Given the description of an element on the screen output the (x, y) to click on. 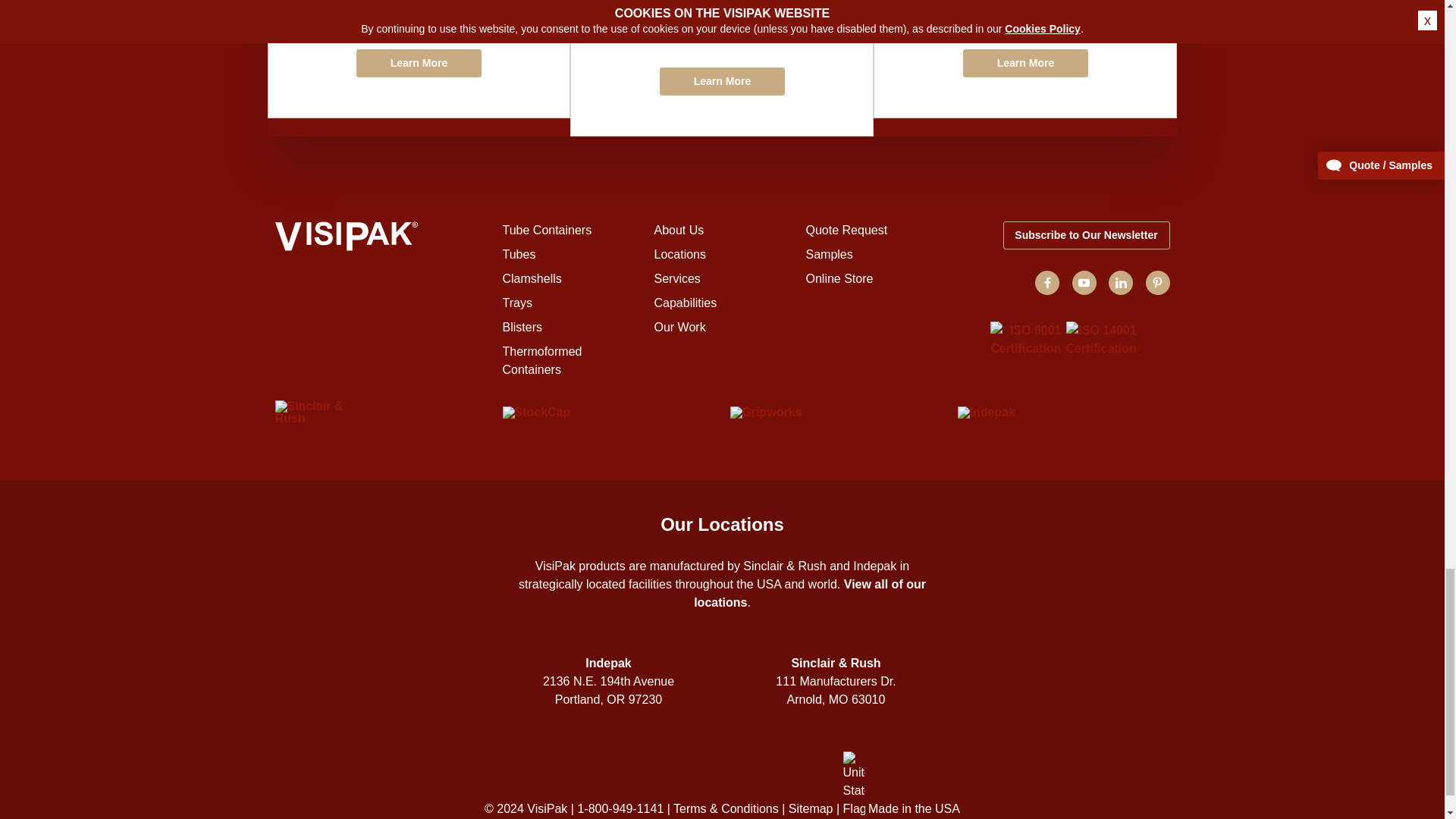
Tube Containers (546, 229)
Thermoformed Containers (541, 359)
Contact Us (721, 67)
Trays (516, 302)
Our Locations (679, 254)
About Us (678, 229)
VisiPak (380, 238)
Blisters (521, 327)
Clamshells (531, 278)
Tubes (518, 254)
Shop Online (1025, 58)
Request a Quote or Sample (418, 58)
